Given the description of an element on the screen output the (x, y) to click on. 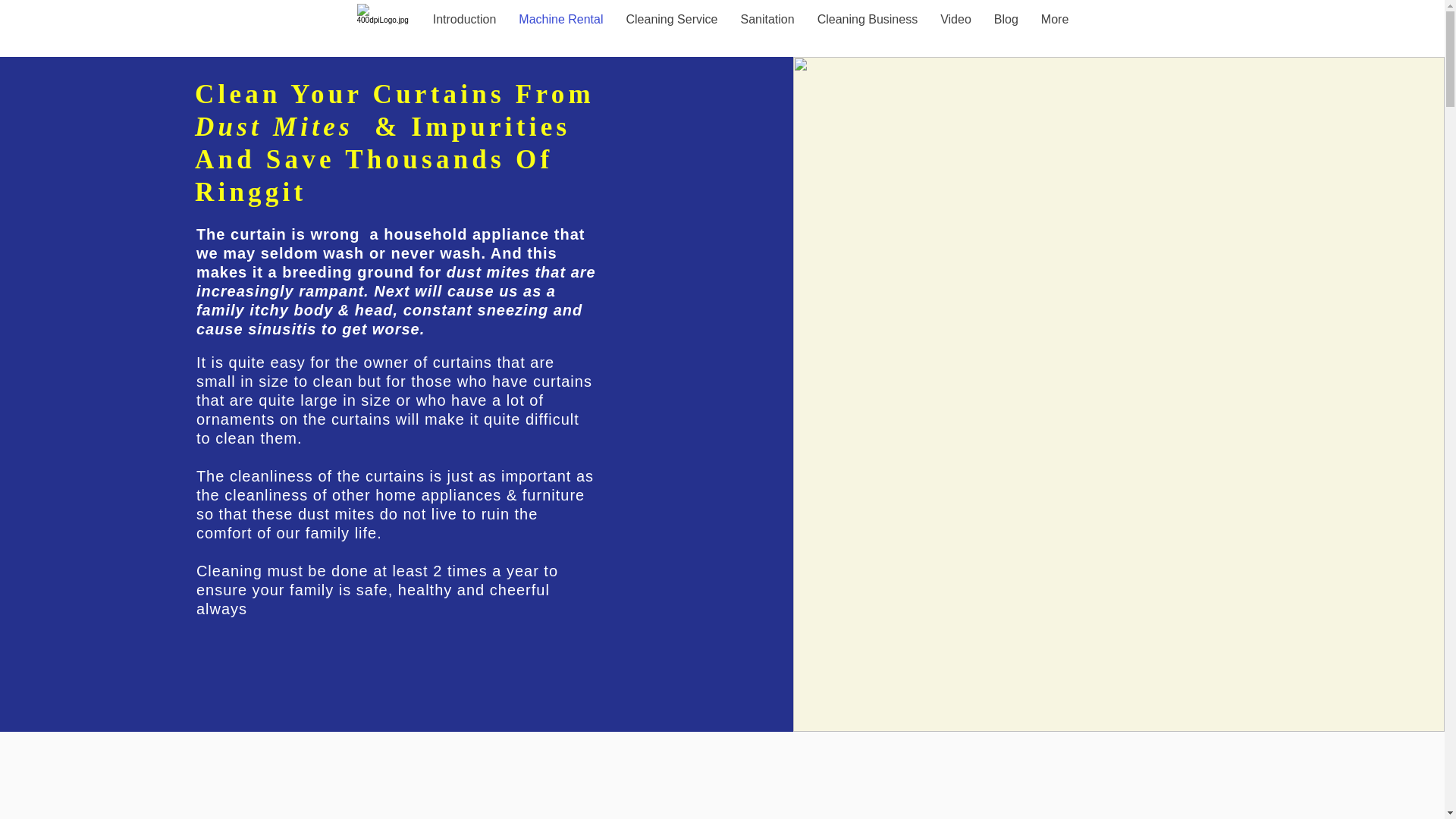
Cleaning Business (868, 30)
Sanitation (767, 30)
Video (955, 30)
Cleaning Service (671, 30)
Introduction (465, 30)
Blog (1005, 30)
Machine Rental (560, 30)
